Given the description of an element on the screen output the (x, y) to click on. 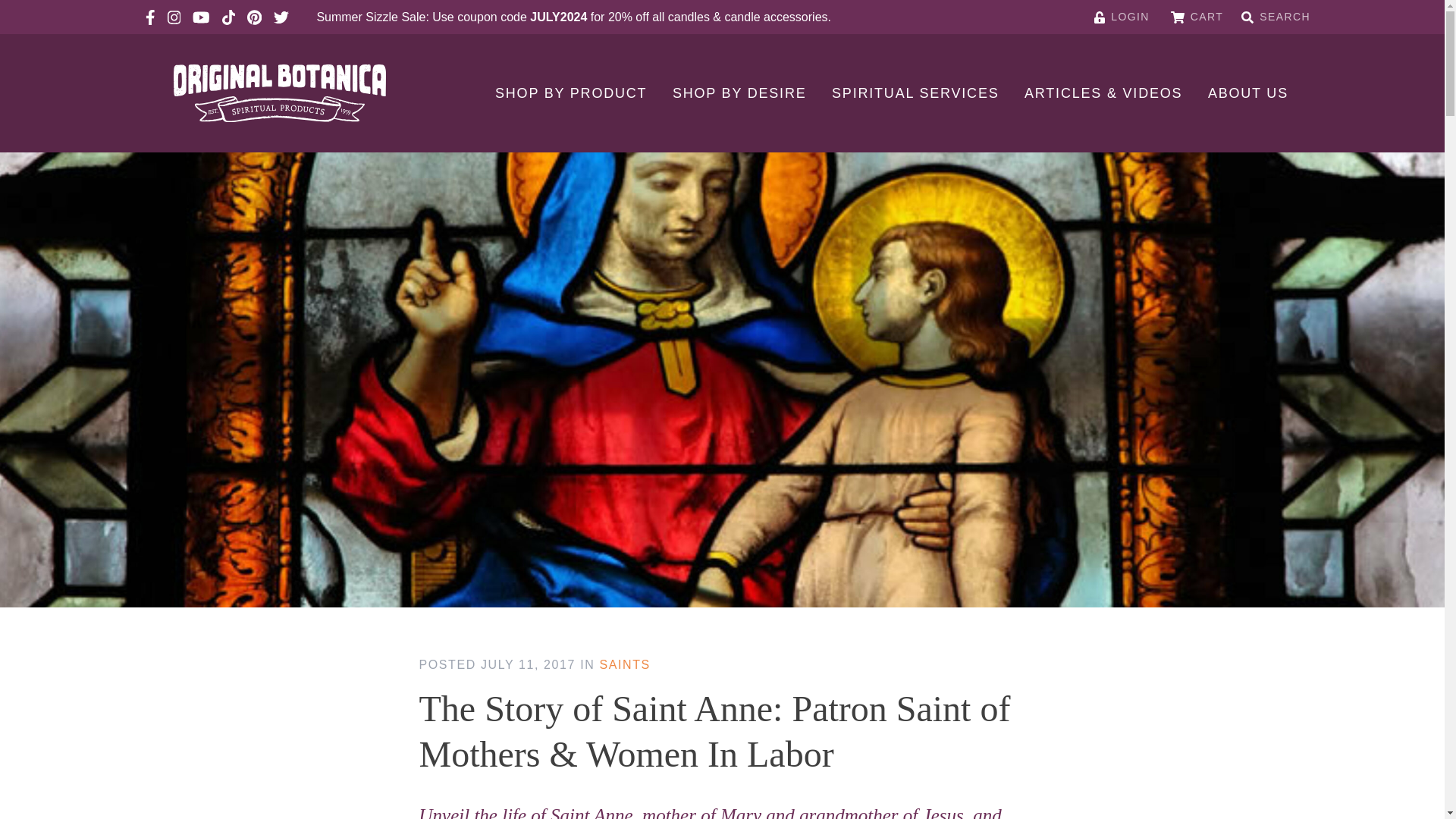
Original Products Botanica youtube Link (200, 16)
Original Botanica Spirtual Products (279, 93)
CART (1196, 17)
SHOP BY PRODUCT (570, 93)
LOGIN (1122, 17)
Original Products Botanica instagram Link (173, 16)
Original Products Botanica pinterest Link (254, 16)
SEARCH (1275, 17)
Original Products Botanica tiktok Link (227, 16)
Original Products Botanica twitter Link (280, 16)
